Given the description of an element on the screen output the (x, y) to click on. 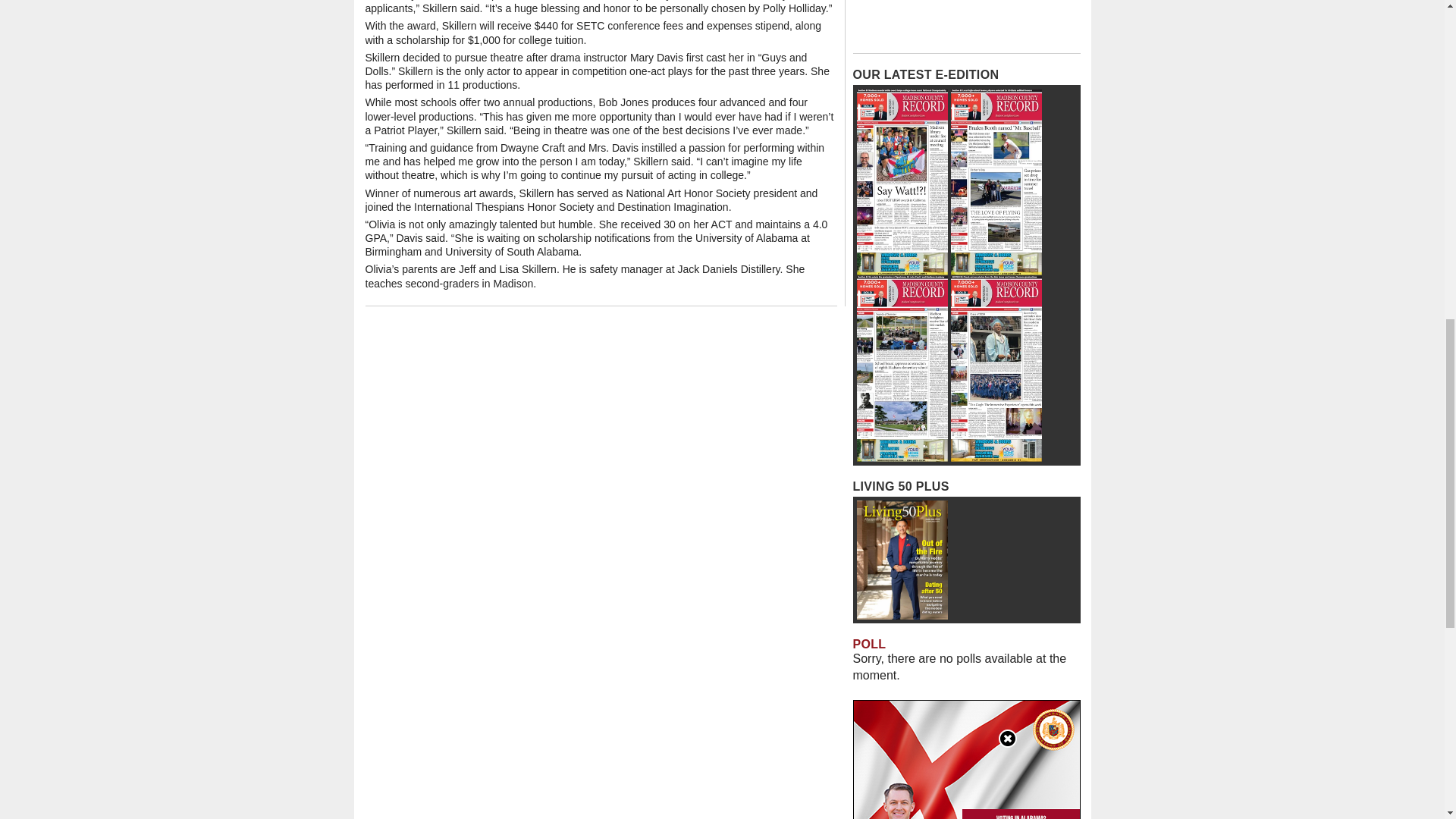
OUR LATEST E-EDITION (924, 74)
3rd party ad content (965, 22)
